Given the description of an element on the screen output the (x, y) to click on. 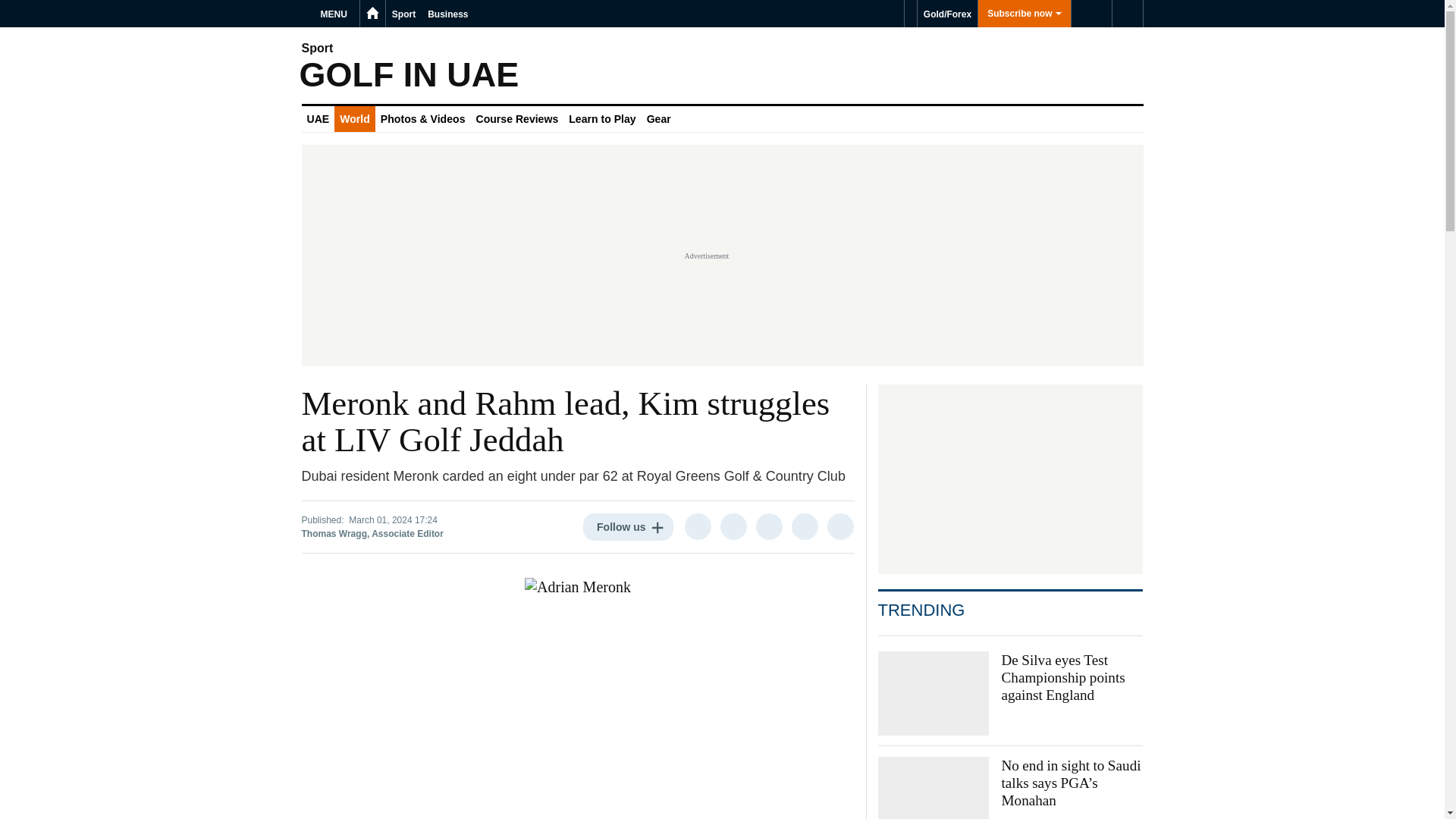
Subscribe now (1024, 13)
Business (448, 13)
MENU (336, 13)
Sport (403, 13)
